Given the description of an element on the screen output the (x, y) to click on. 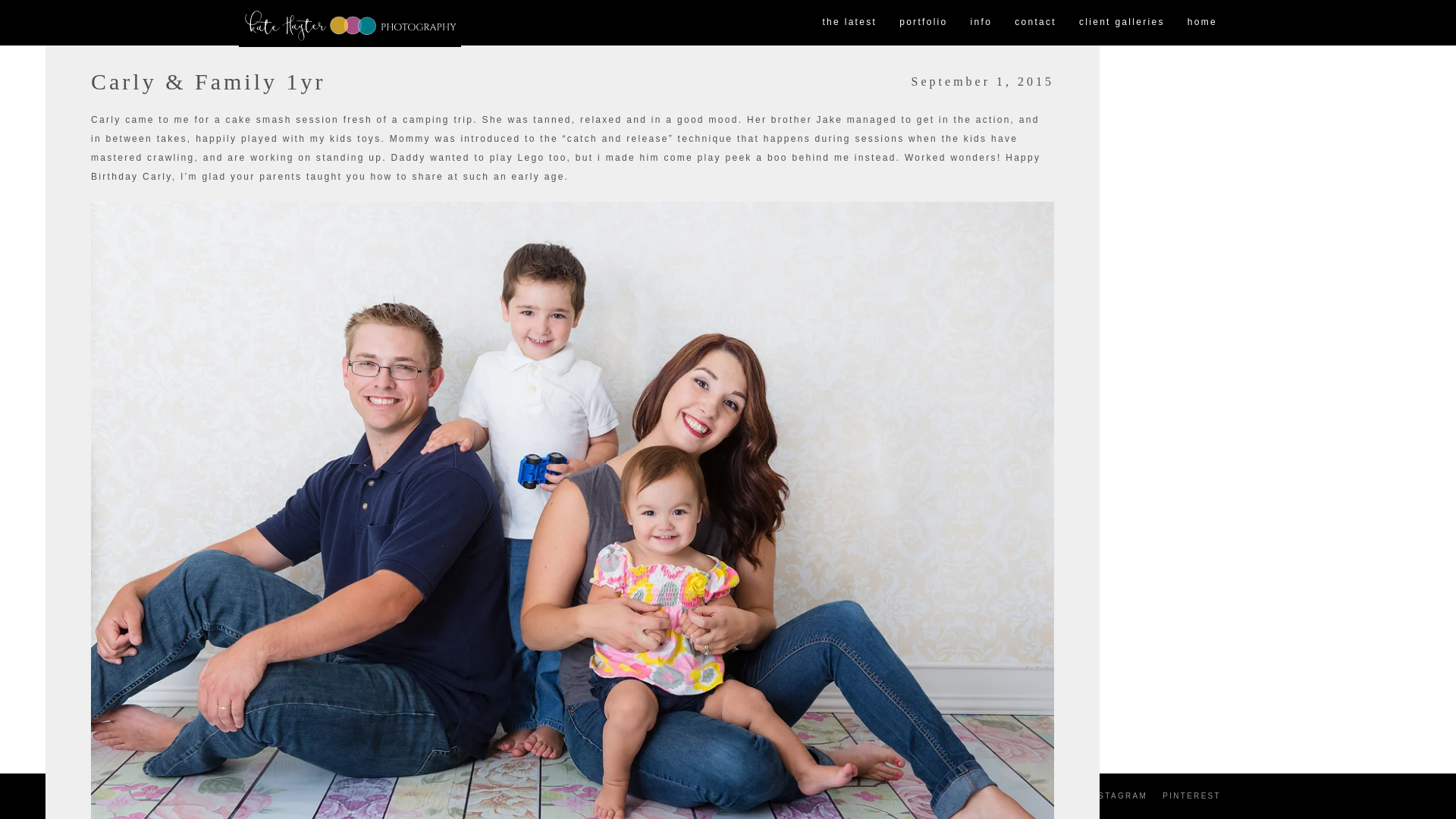
INSTAGRAM (1117, 796)
home (1202, 22)
portfolio (923, 22)
info (981, 22)
FACEBOOK (1043, 796)
contact (1035, 22)
client galleries (1121, 22)
PINTEREST (1191, 796)
the latest (849, 22)
